Given the description of an element on the screen output the (x, y) to click on. 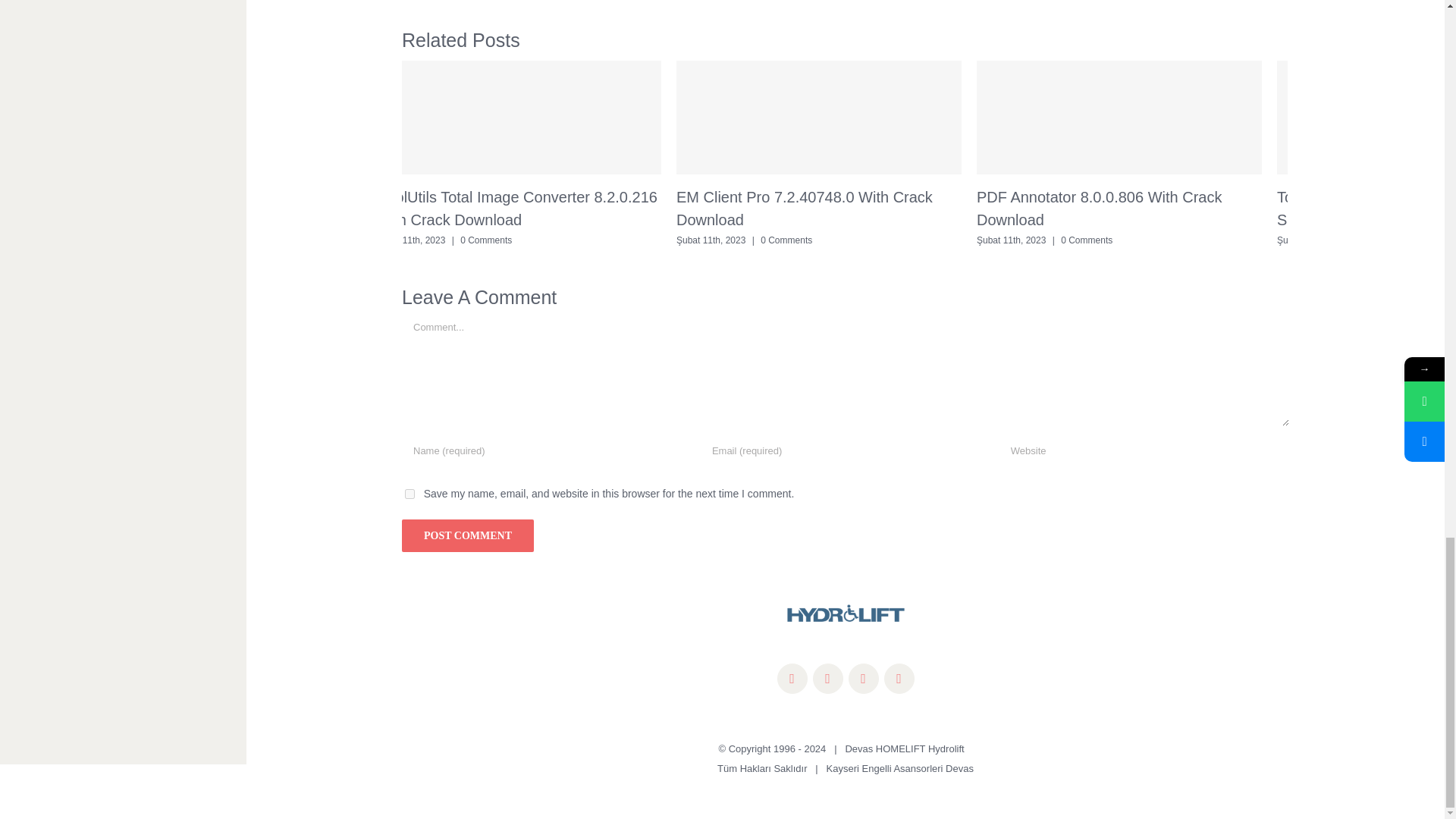
Post Comment (467, 535)
yes (409, 493)
